Given the description of an element on the screen output the (x, y) to click on. 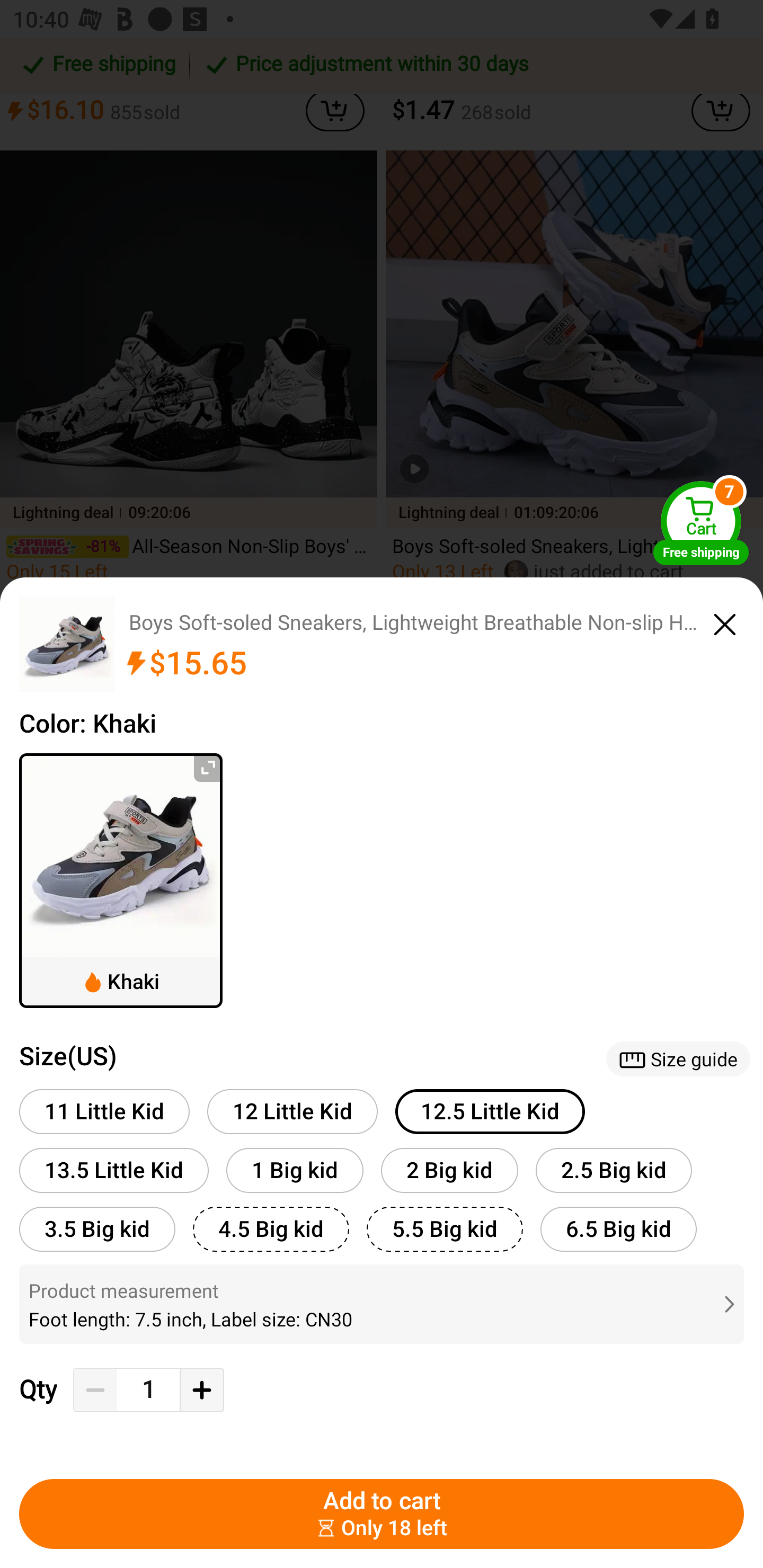
Cart Free shipping Cart (701, 522)
close (724, 621)
Khaki ￼Khaki (120, 880)
￼Size guide (677, 1058)
 11 Little Kid (104, 1111)
 12 Little Kid (292, 1111)
 12.5 Little Kid (490, 1111)
 13.5 Little Kid (114, 1170)
 1 Big kid (294, 1170)
 2 Big kid (449, 1170)
 2.5 Big kid (613, 1170)
 3.5 Big kid (97, 1229)
 4.5 Big kid (271, 1229)
 5.5 Big kid (444, 1229)
 6.5 Big kid (618, 1229)
Decrease Quantity Button (95, 1389)
Add Quantity Button (201, 1389)
1 (148, 1389)
Add to cart ￼￼Only 18 left (381, 1513)
